Given the description of an element on the screen output the (x, y) to click on. 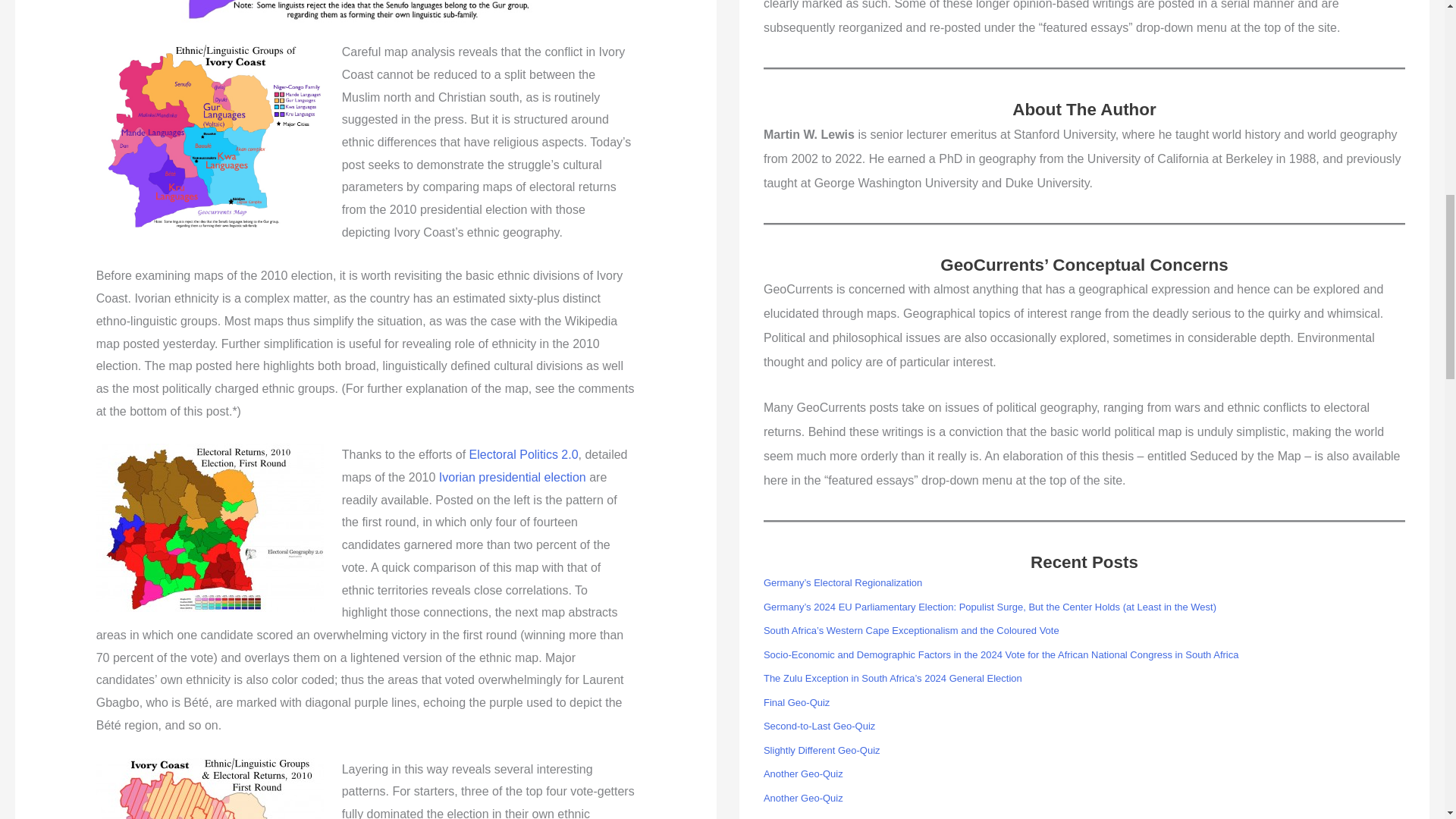
Ivory-Coast-Election-Map (209, 527)
Ivory-Coast-Ethnicity-Map (209, 134)
Ivory-Coast-Election-Ethnic-map (209, 788)
